Given the description of an element on the screen output the (x, y) to click on. 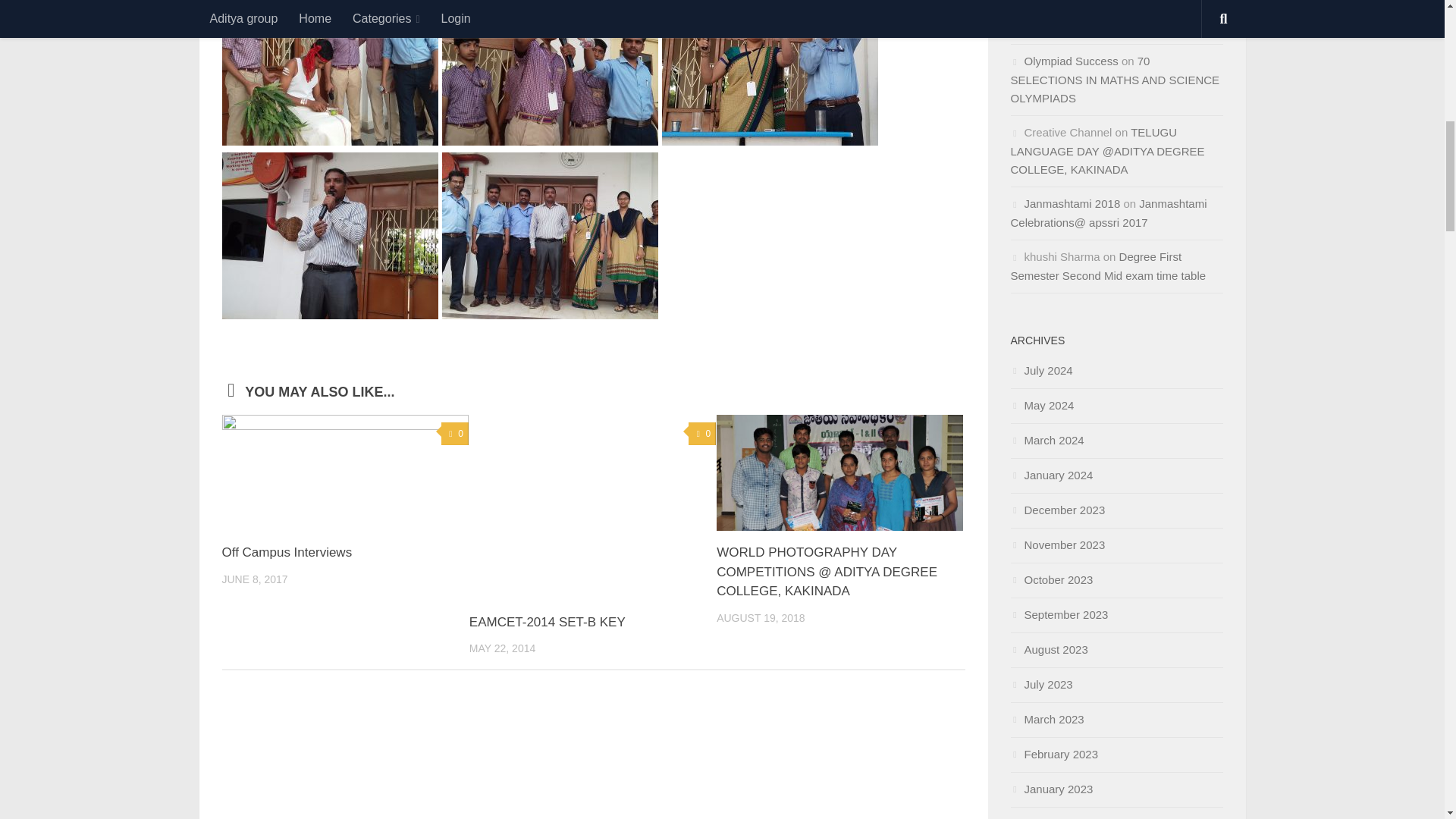
0 (454, 433)
Off Campus Interviews (286, 552)
EAMCET-2014 SET-B KEY (547, 622)
Permalink to EAMCET-2014 SET-B KEY (547, 622)
Permalink to Off Campus Interviews (286, 552)
0 (702, 433)
